Given the description of an element on the screen output the (x, y) to click on. 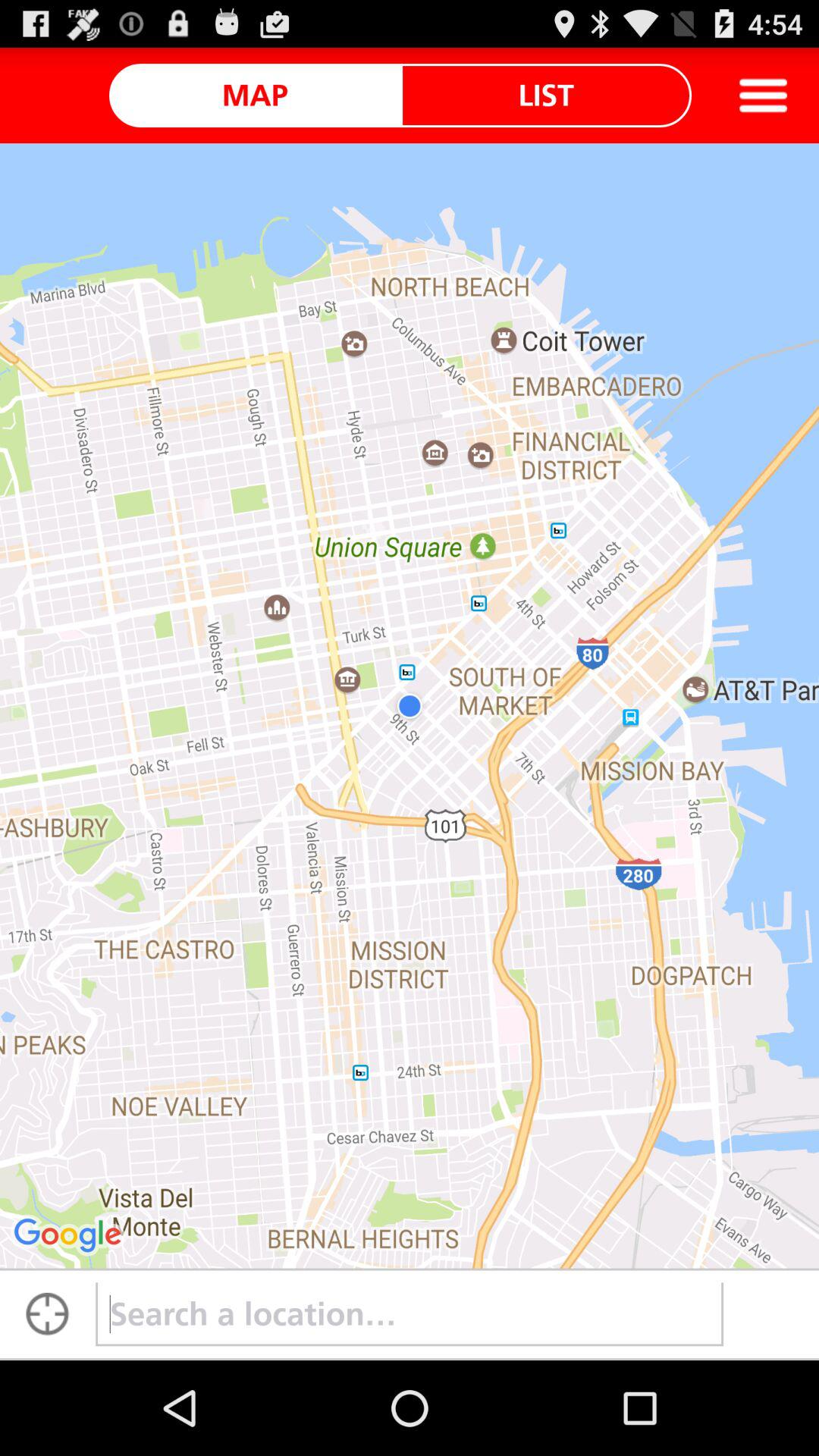
tap the icon next to the map (545, 95)
